Given the description of an element on the screen output the (x, y) to click on. 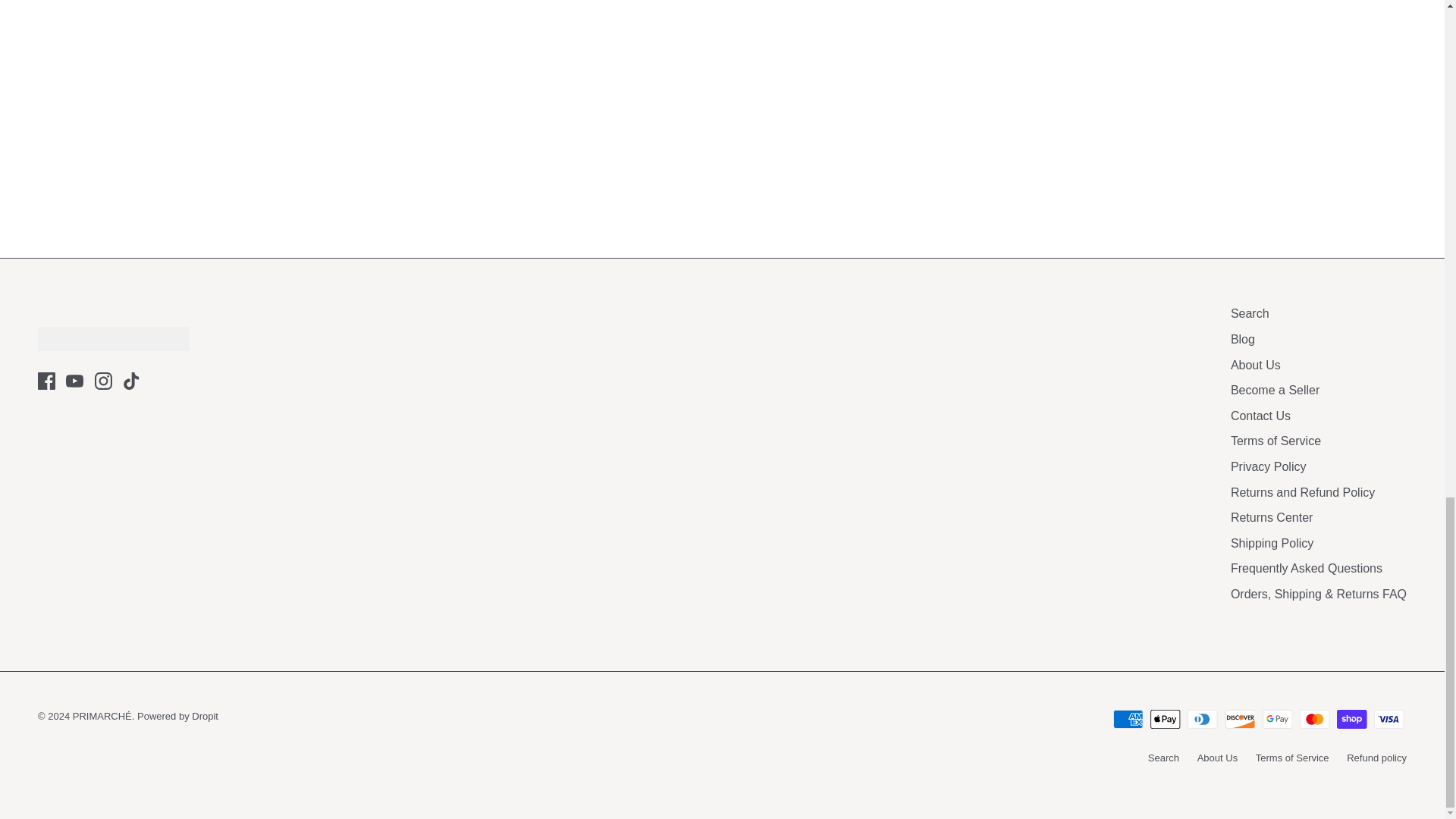
Diners Club (1202, 719)
Discover (1240, 719)
Mastercard (1314, 719)
American Express (1127, 719)
Visa (1388, 719)
Shop Pay (1351, 719)
Facebook (46, 380)
Apple Pay (1165, 719)
Instagram (103, 380)
Youtube (73, 380)
